Given the description of an element on the screen output the (x, y) to click on. 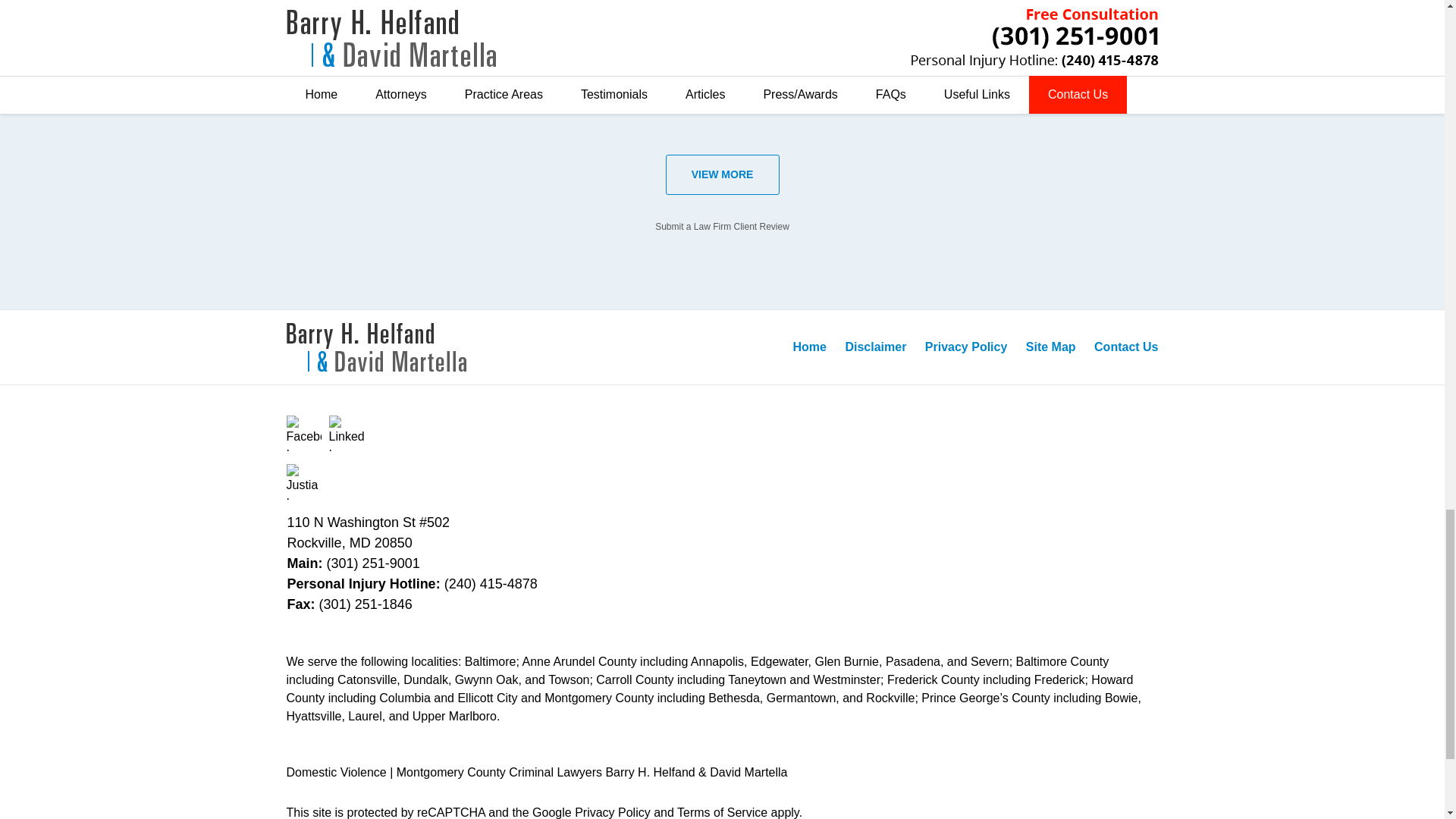
VIEW MORE (721, 174)
Facebook (303, 433)
Submit a Law Firm Client Review (722, 226)
LinkedIn (347, 433)
Justia (303, 481)
